Given the description of an element on the screen output the (x, y) to click on. 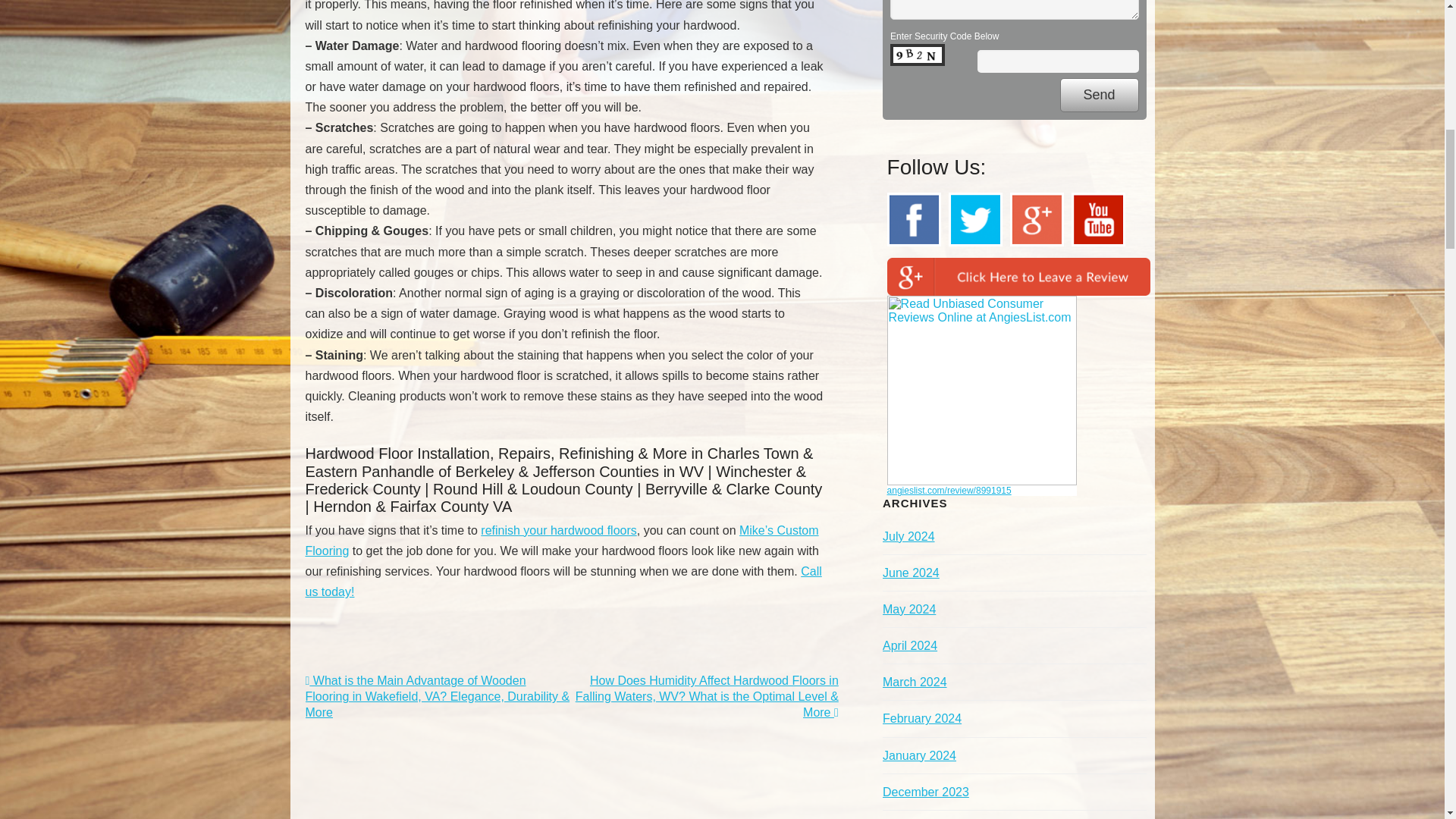
Send (1098, 94)
